Given the description of an element on the screen output the (x, y) to click on. 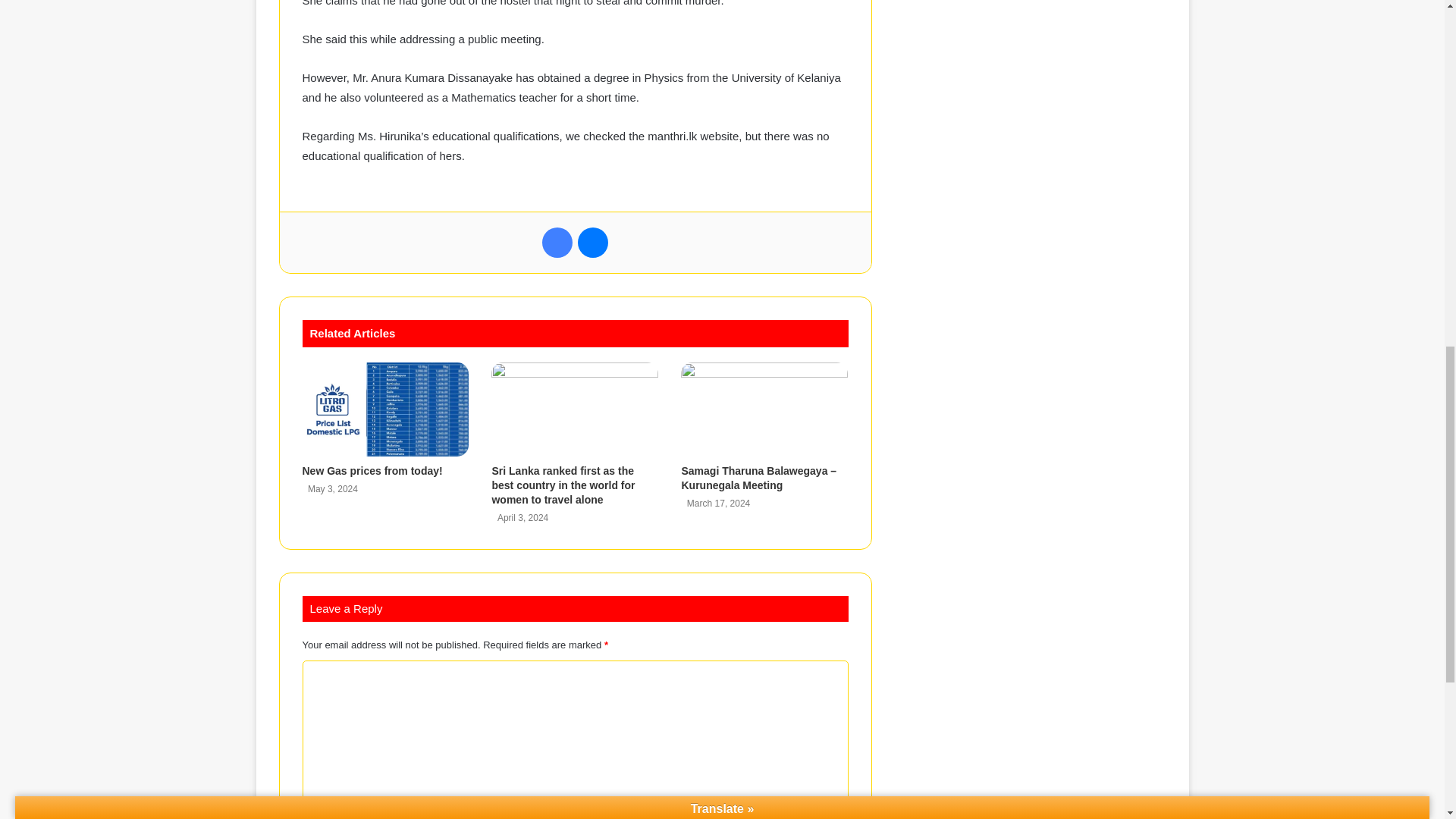
Messenger (593, 242)
New Gas prices from today! (371, 470)
Facebook (556, 242)
Facebook (556, 242)
Messenger (593, 242)
